Given the description of an element on the screen output the (x, y) to click on. 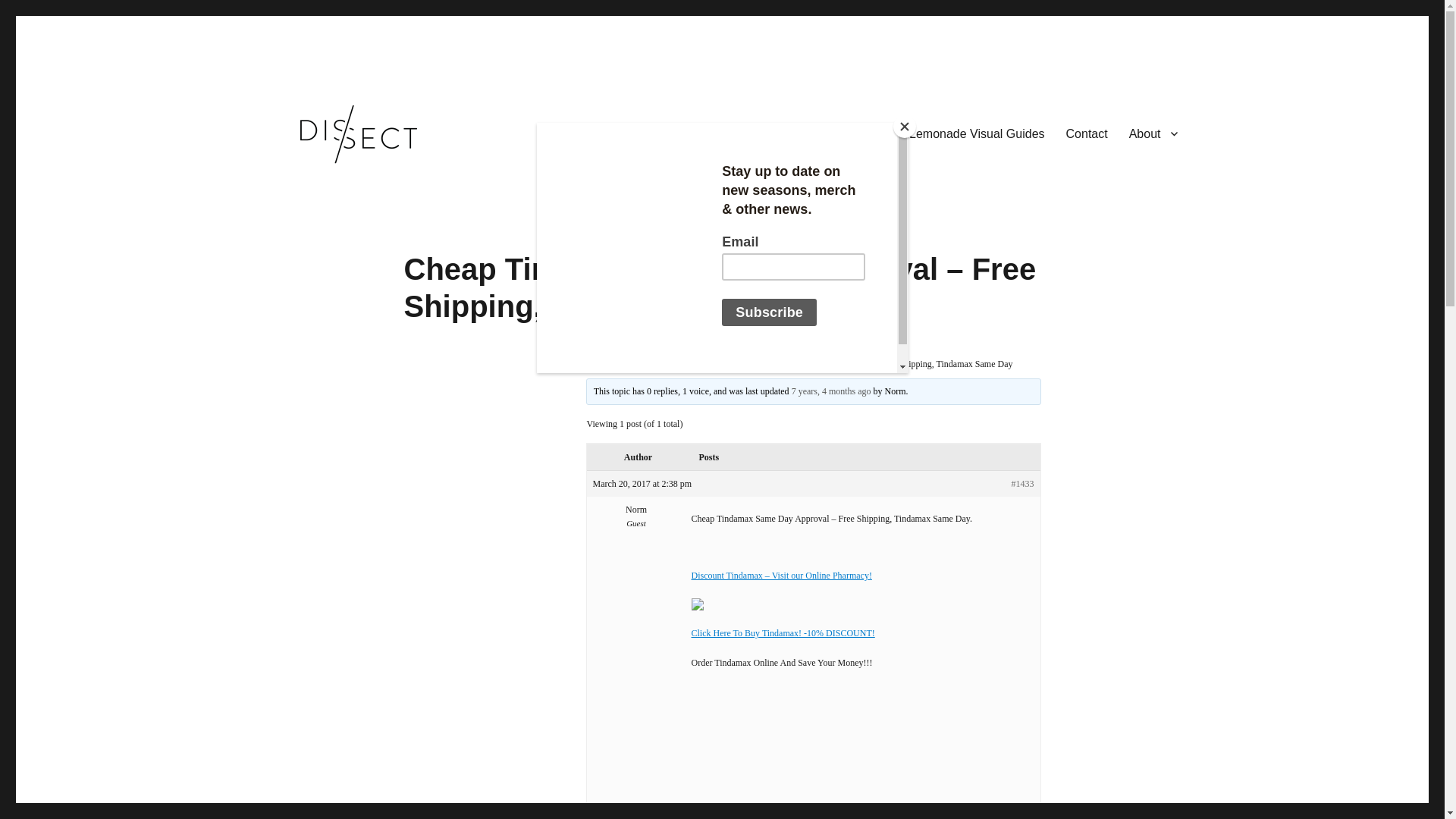
Contact (1086, 133)
BTI Visual Guides (839, 133)
7 years, 4 months ago (831, 390)
Home (596, 363)
Season 2 Discussion (688, 363)
Merch (752, 133)
Dissect (304, 189)
About (1153, 133)
Lemonade Visual Guides (976, 133)
Forums (629, 363)
Home (698, 133)
